Given the description of an element on the screen output the (x, y) to click on. 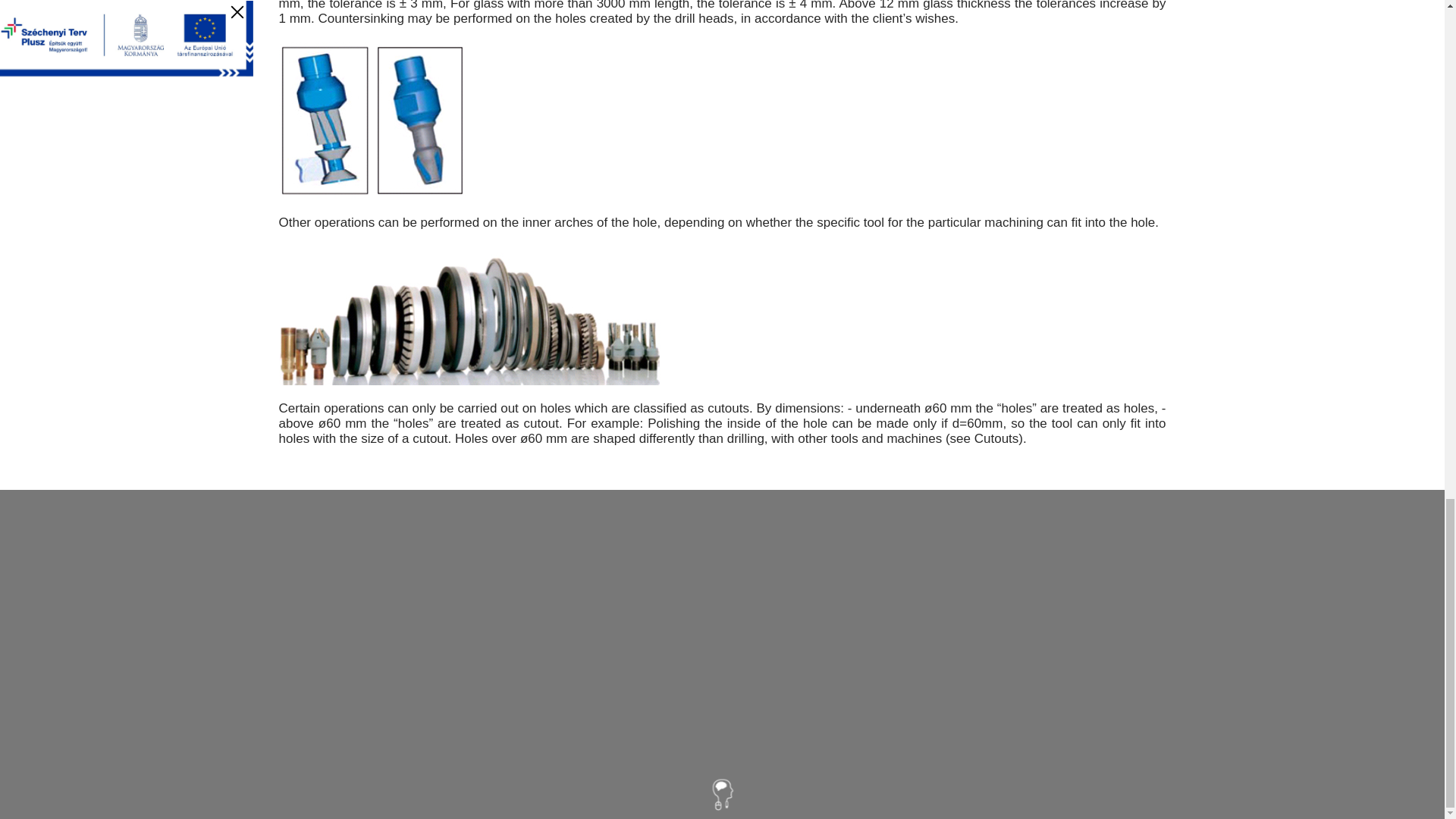
Glass Drilling CE Glass Industries (372, 120)
Glass Drilling CE Glass Industries (470, 315)
